Given the description of an element on the screen output the (x, y) to click on. 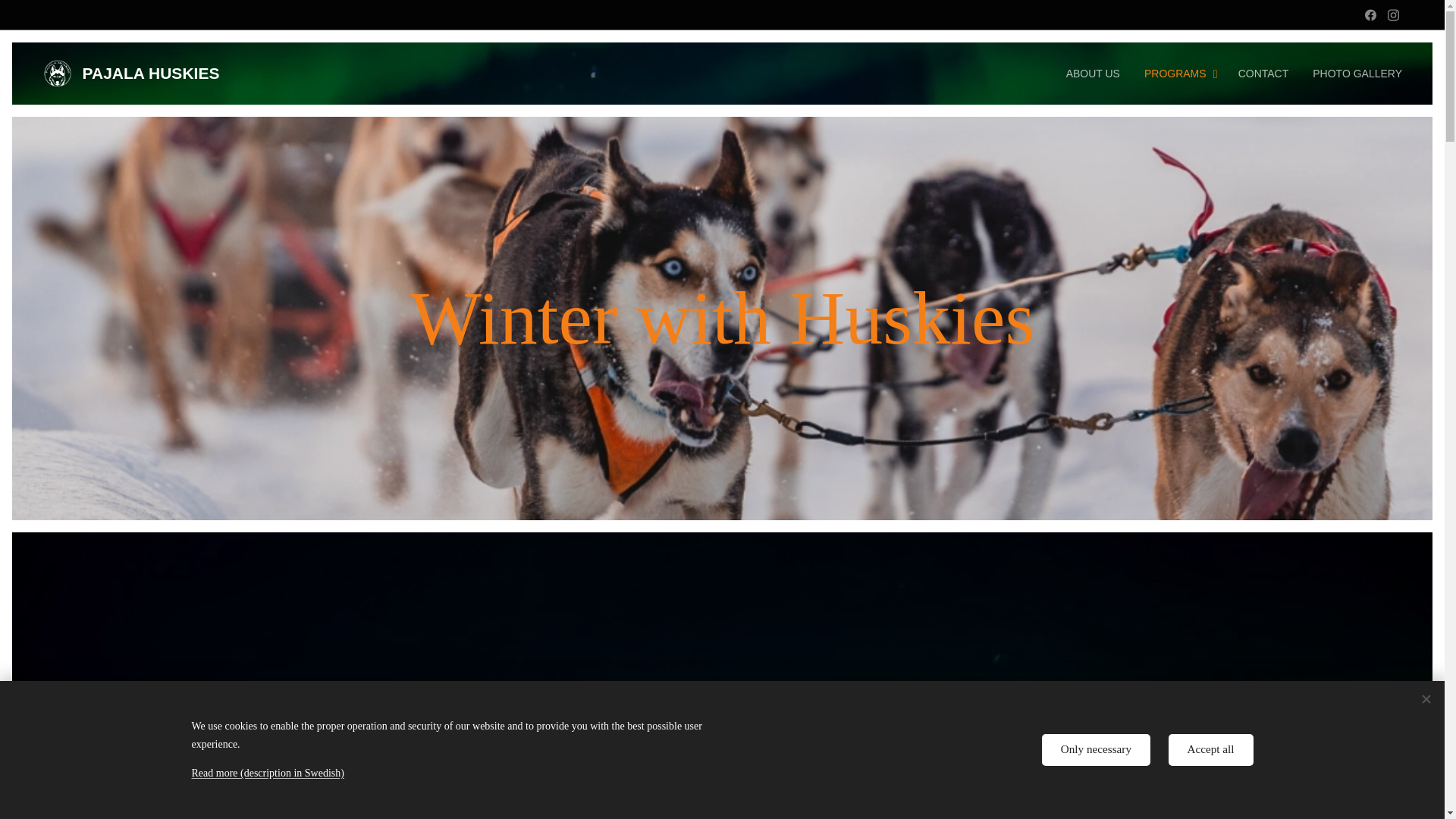
PROGRAMS (1178, 73)
PAJALA HUSKIES (132, 73)
Only necessary (1096, 748)
PHOTO GALLERY (1351, 73)
CONTACT (1263, 73)
Accept all (1211, 748)
ABOUT US (1097, 73)
